Given the description of an element on the screen output the (x, y) to click on. 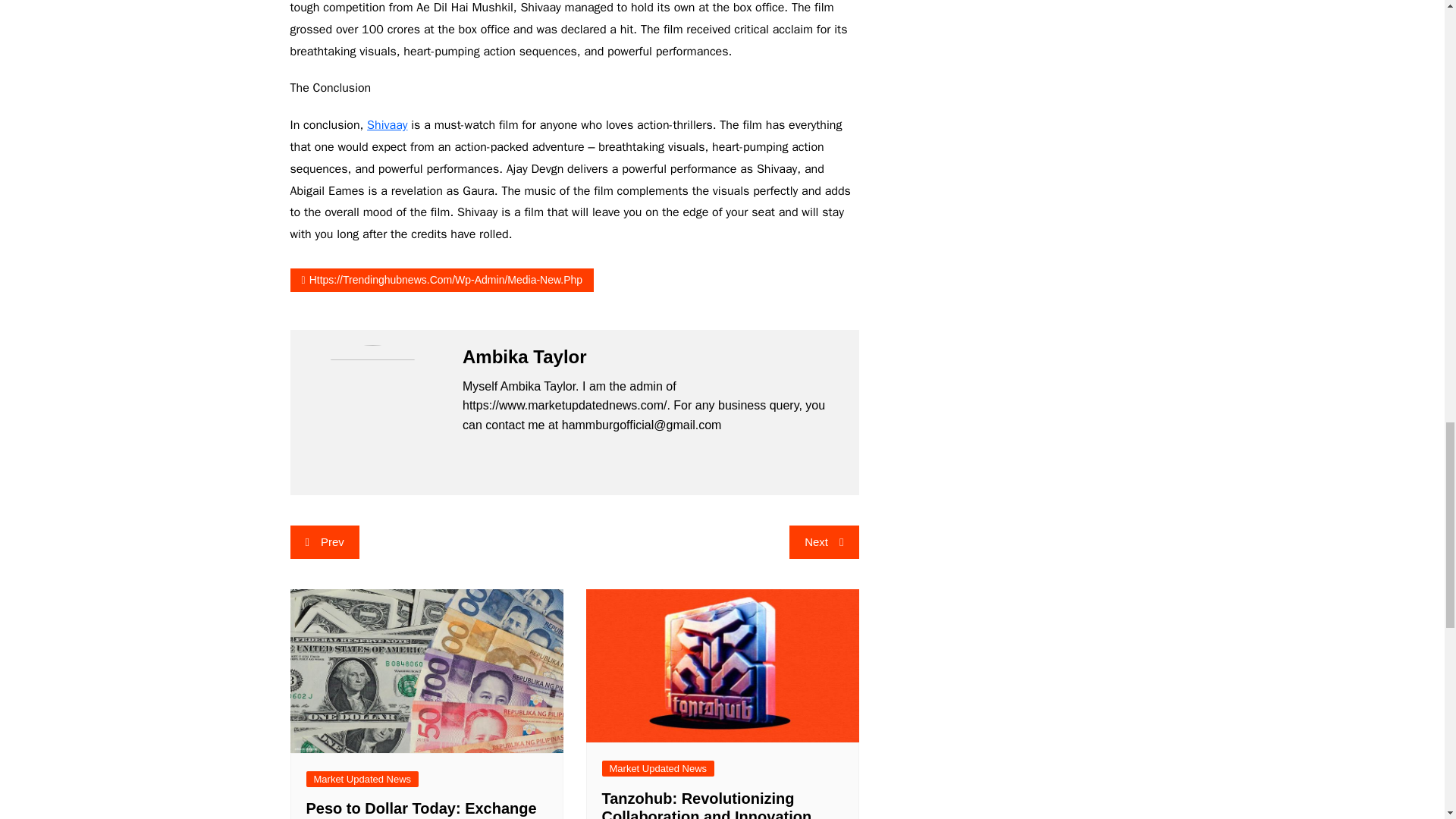
Next (824, 541)
Peso to Dollar Today: Exchange Rate (421, 809)
Prev (323, 541)
Market Updated News (658, 768)
Market Updated News (362, 779)
Shivaay (386, 124)
